Given the description of an element on the screen output the (x, y) to click on. 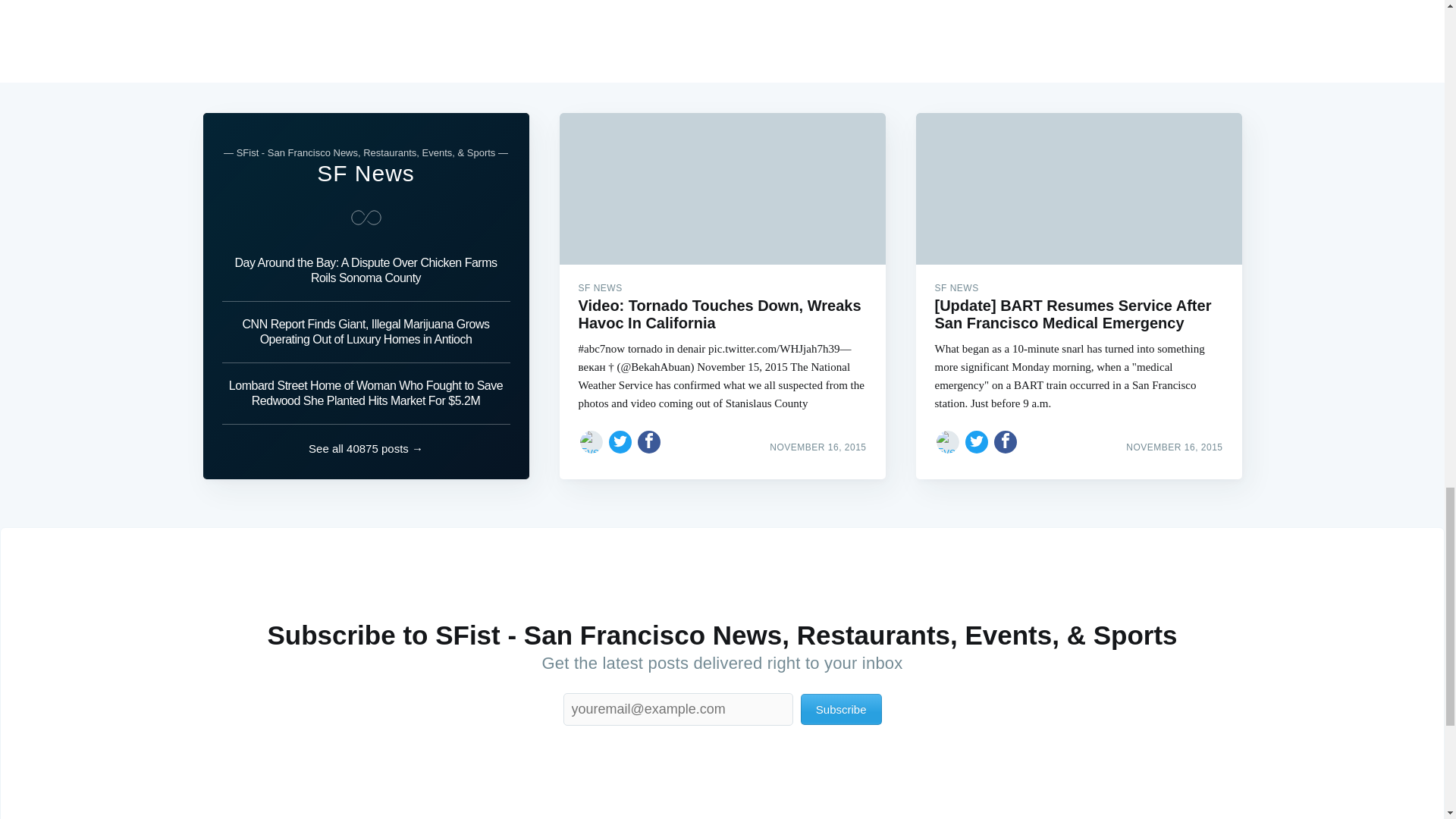
Share on Facebook (1004, 442)
SF News (365, 172)
Share on Twitter (620, 442)
Share on Twitter (976, 442)
Share on Facebook (649, 442)
